Given the description of an element on the screen output the (x, y) to click on. 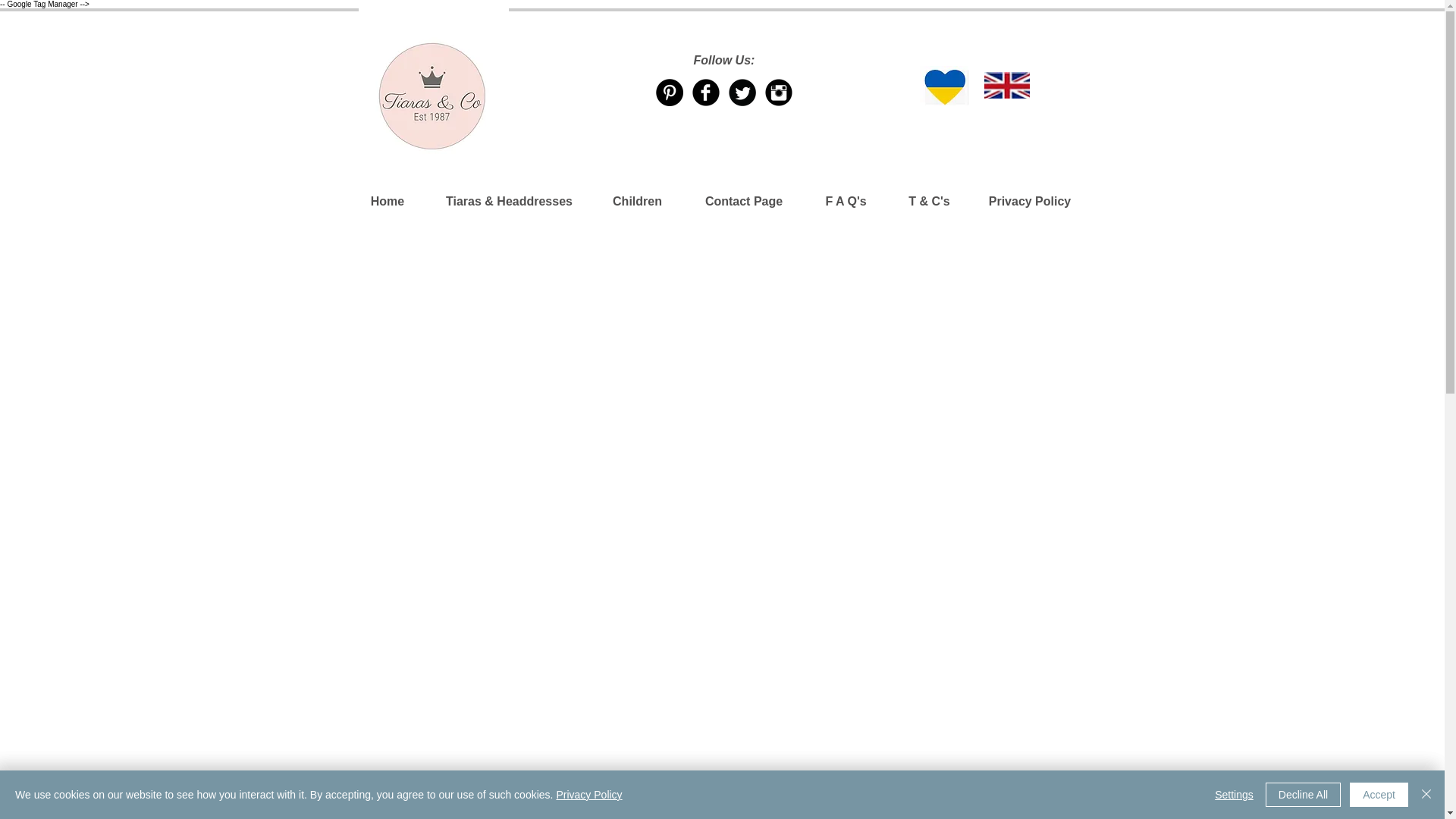
Home (386, 201)
Privacy Policy (588, 794)
Union Jack Flag (1006, 85)
Decline All (1302, 794)
Privacy Policy (1029, 201)
Contact Page (744, 201)
F A Q's (844, 201)
Accept (1378, 794)
